Given the description of an element on the screen output the (x, y) to click on. 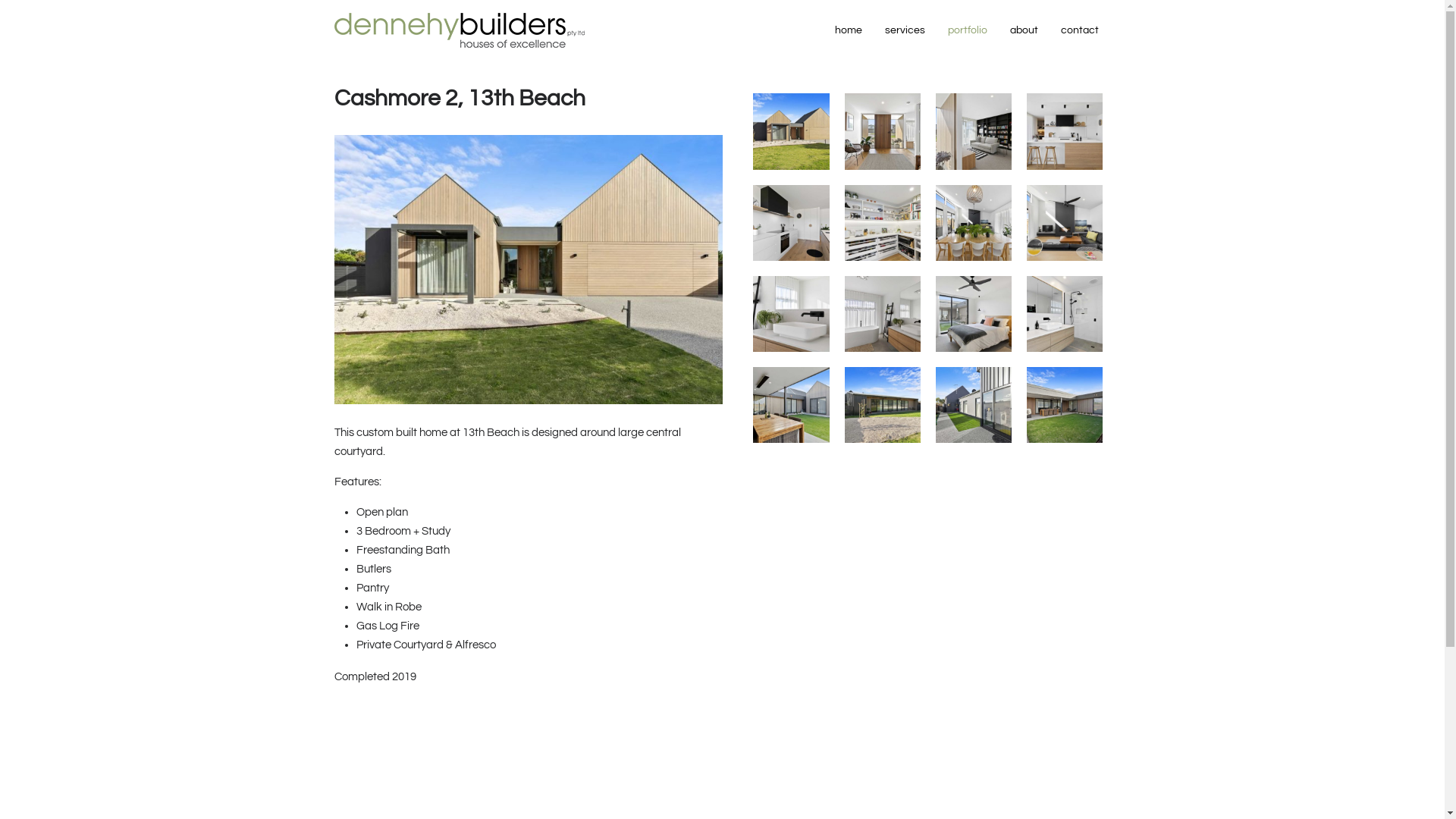
En-suite custom builders 13th Beach Element type: hover (1064, 313)
Custom builders 13th Beach - Study Element type: hover (973, 131)
portfolio Element type: text (967, 30)
home Element type: text (848, 30)
Custom builders 13th Beach - backyard Element type: hover (882, 404)
Custom builders 13th Beach - outside Element type: hover (973, 404)
Custom builders 13th Beach - Living Element type: hover (1064, 222)
Custom built kitchen - 13th Beach Element type: hover (1064, 131)
Custom builders 13th Beach - Master bedroom Element type: hover (973, 313)
Custom builders 13th Beach Element type: hover (790, 404)
contact Element type: text (1079, 30)
Custom builders 13th Beach - Dennehy Builders Element type: hover (1064, 404)
Custom builders 13th Beach - butler pantry Element type: hover (882, 222)
Custom builders 13th Beach - Bathroom Element type: hover (882, 313)
Custom build kitchen 13th Beach Element type: hover (790, 222)
Custom builders 13th Beach - Bathroom sink Element type: hover (790, 313)
Dinning custom builders 13th Beach Element type: hover (973, 222)
Custom build entrance 13th Beach Element type: hover (882, 131)
services Element type: text (904, 30)
about Element type: text (1024, 30)
